Given the description of an element on the screen output the (x, y) to click on. 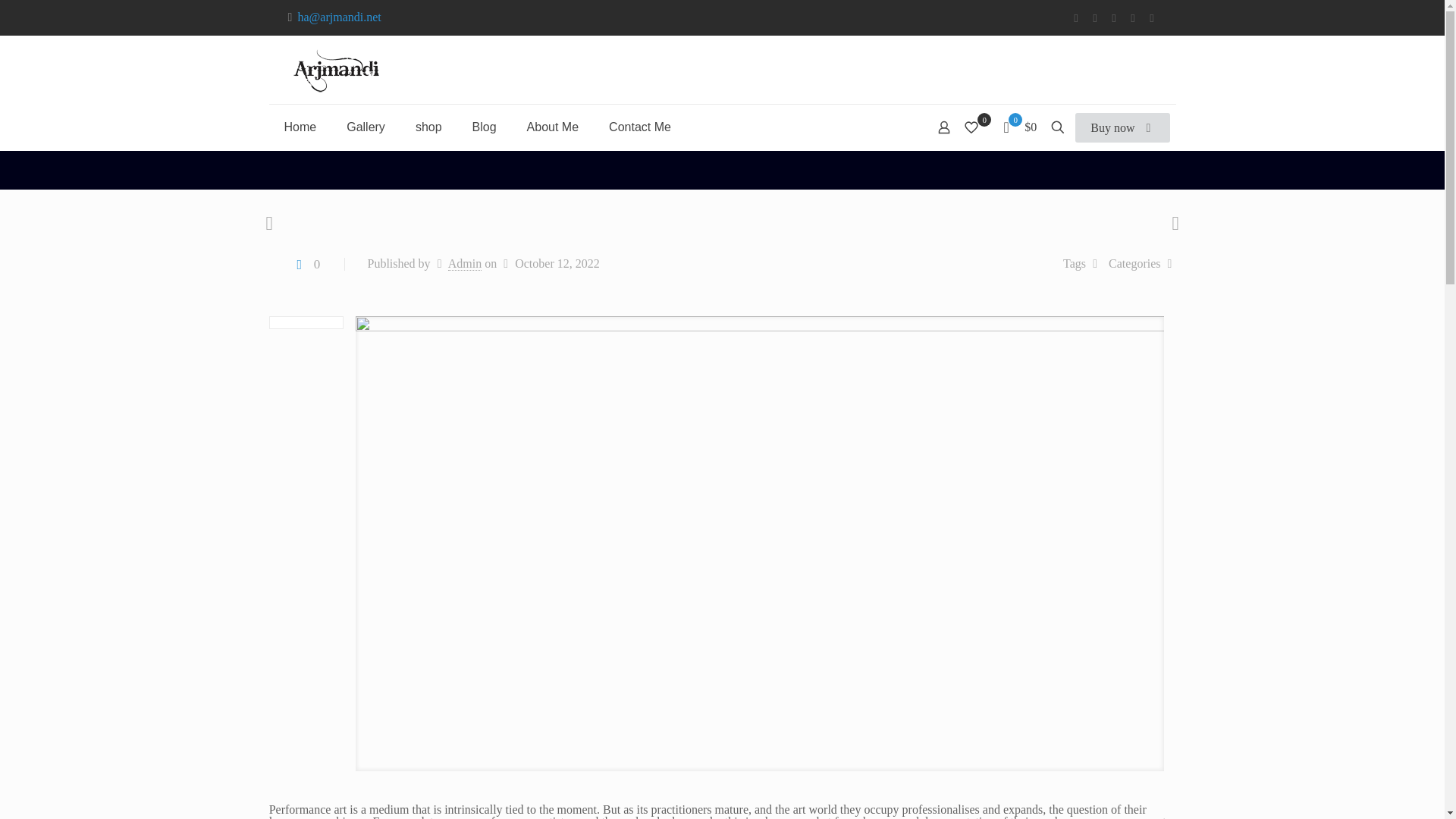
shop (428, 126)
0 (306, 264)
Blog (484, 126)
Gallery (365, 126)
About Me (553, 126)
YouTube (1094, 18)
etsy (1152, 18)
Facebook (1075, 18)
0 (975, 127)
LinkedIn (1113, 18)
